Given the description of an element on the screen output the (x, y) to click on. 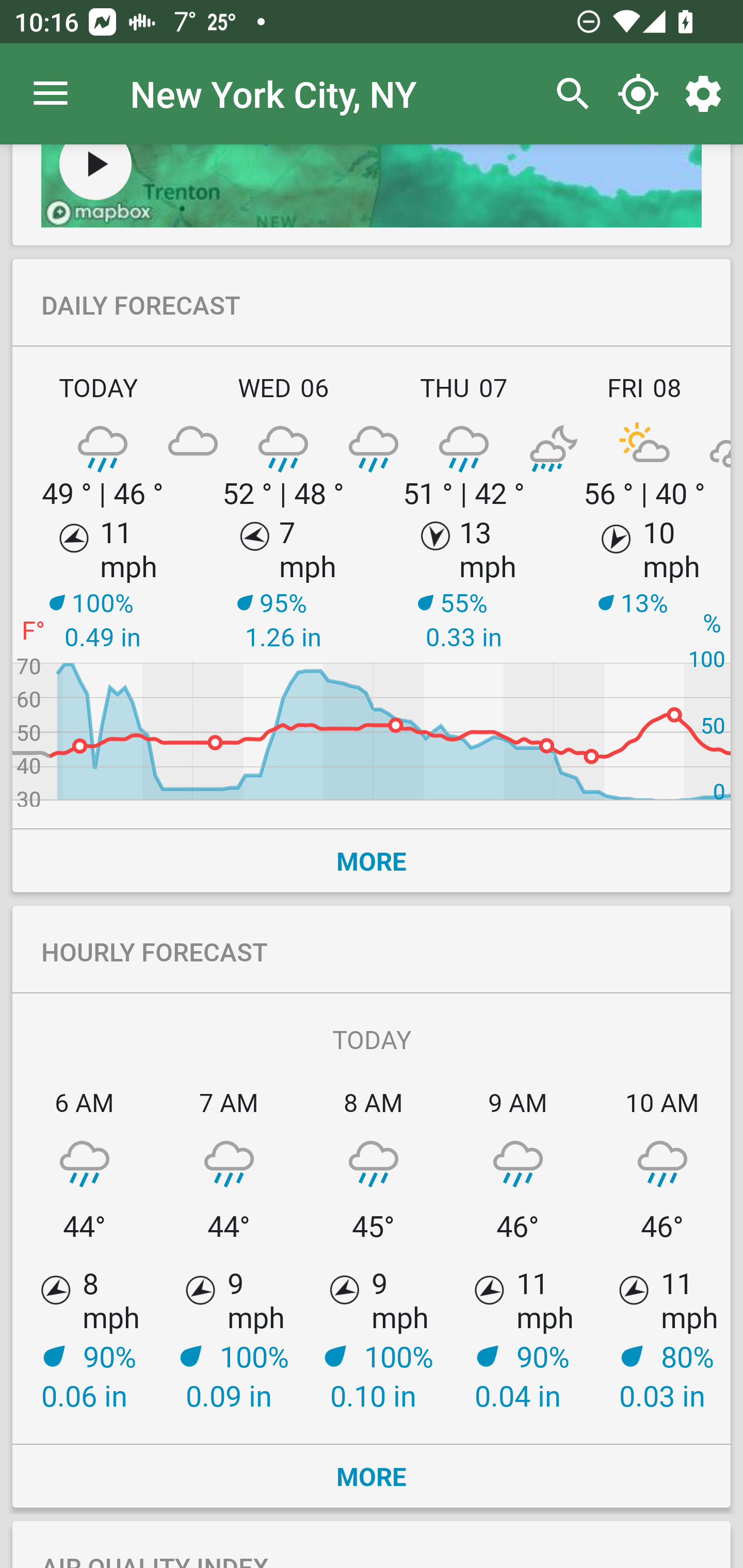
Press to open location manager. (50, 93)
Search for location (567, 94)
Select GPS location (637, 94)
Settings (706, 94)
New York City, NY (273, 92)
Weather Map (95, 172)
TODAY Rain 49 °  |  46 ° 11
mph 100% 0.49 in (102, 584)
WED 06 Rain 52 °  |  48 ° 7
mph 95% 1.26 in (283, 584)
THU 07 Showers 51 °  |  42 ° 13
mph 55% 0.33 in (463, 584)
FRI 08 Partly Cloudy 56 °  |  40 ° 10
mph 13% (642, 584)
MORE (371, 860)
6 AM 44° 8
mph 90% 0.06 in (84, 1249)
7 AM 44° 9
mph 100% 0.09 in (228, 1249)
8 AM 45° 9
mph 100% 0.10 in (373, 1249)
9 AM 46° 11
mph 90% 0.04 in (517, 1249)
10 AM 46° 11
mph 80% 0.03 in (659, 1249)
MORE (371, 1475)
